Given the description of an element on the screen output the (x, y) to click on. 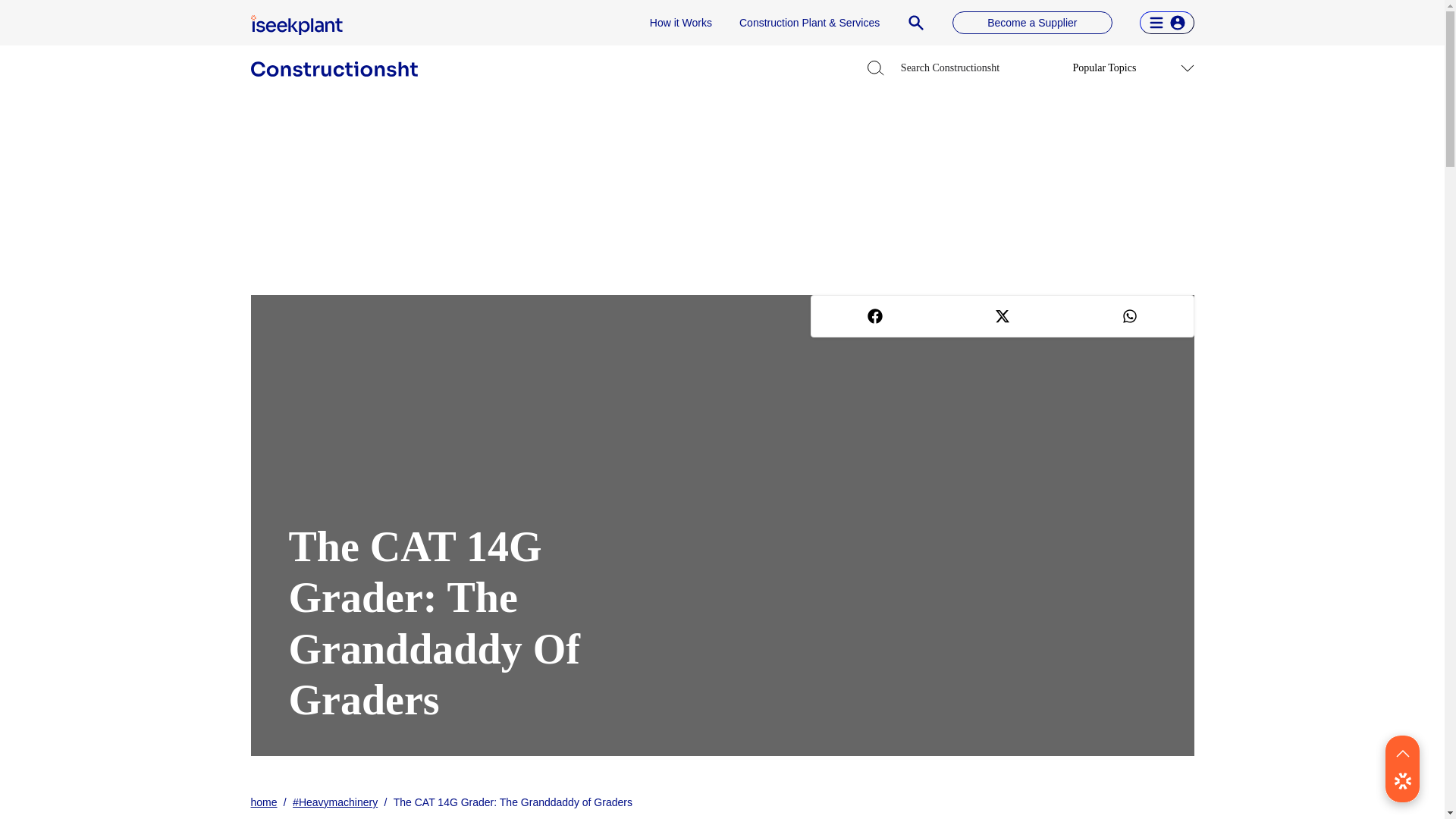
iseekplant (296, 25)
How it Works (680, 22)
menu (1155, 22)
Share on Facebook (874, 315)
Share on Whatsapp (1129, 315)
userCircle (1176, 22)
3rd party ad content (721, 193)
Constructionsht (333, 68)
Share on Twitter (1002, 315)
